Given the description of an element on the screen output the (x, y) to click on. 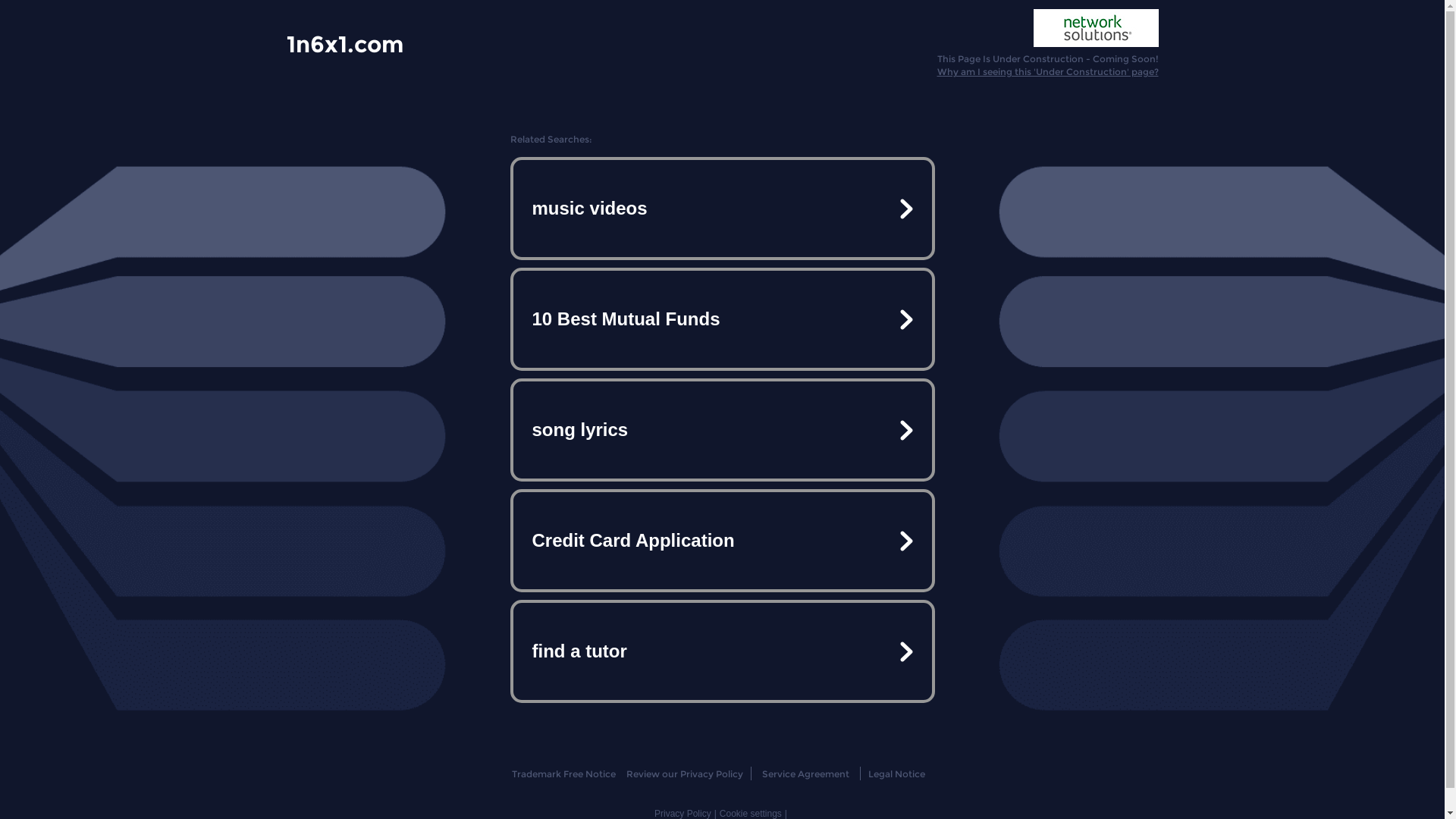
find a tutor Element type: text (721, 650)
1n6x1.com Element type: text (344, 43)
Service Agreement Element type: text (805, 773)
10 Best Mutual Funds Element type: text (721, 318)
music videos Element type: text (721, 208)
Legal Notice Element type: text (896, 773)
Credit Card Application Element type: text (721, 540)
song lyrics Element type: text (721, 429)
Trademark Free Notice Element type: text (563, 773)
Why am I seeing this 'Under Construction' page? Element type: text (1047, 71)
Review our Privacy Policy Element type: text (684, 773)
